Given the description of an element on the screen output the (x, y) to click on. 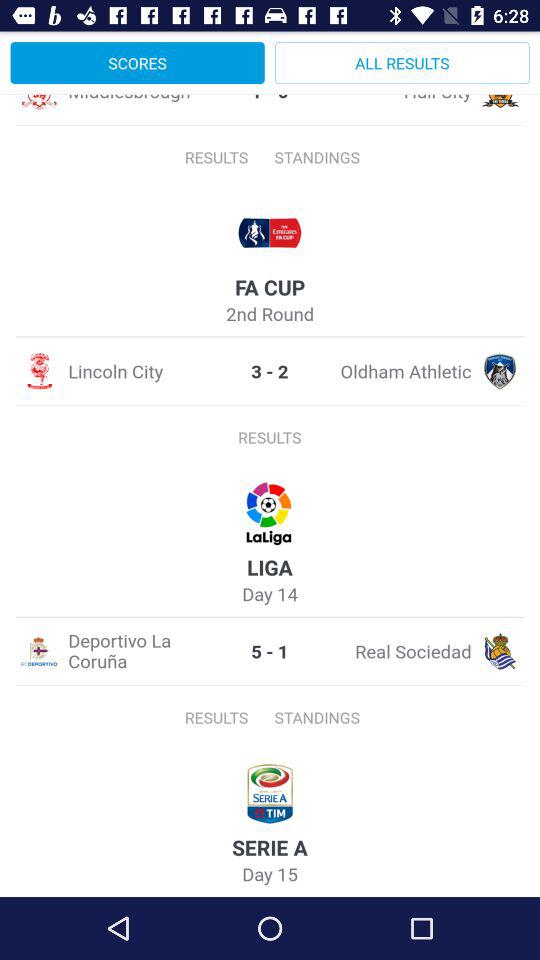
open the all results icon (402, 62)
